Given the description of an element on the screen output the (x, y) to click on. 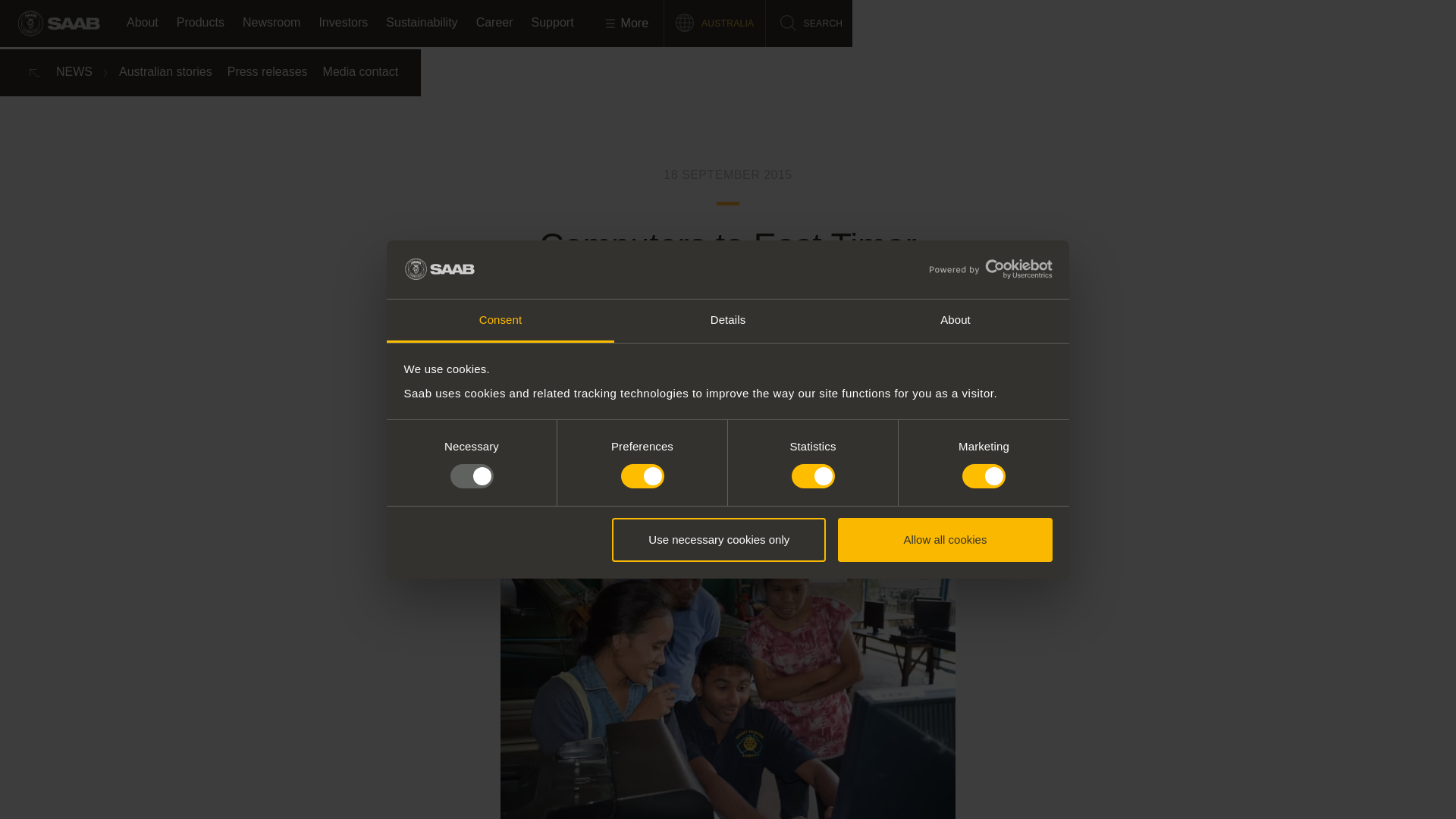
Details (727, 321)
About (954, 321)
Consent (500, 321)
